Given the description of an element on the screen output the (x, y) to click on. 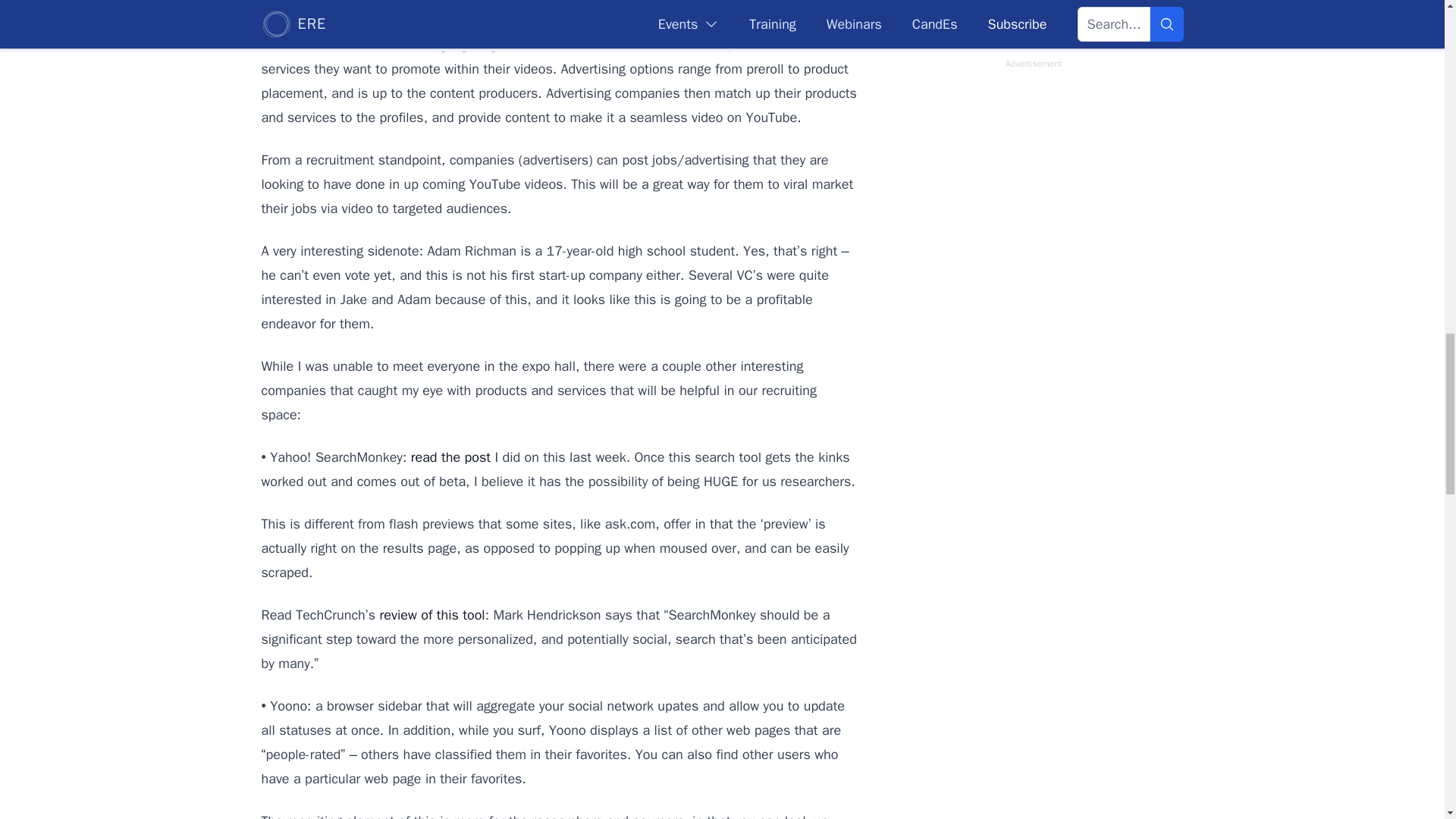
review of this tool (432, 614)
read the post (450, 457)
